Given the description of an element on the screen output the (x, y) to click on. 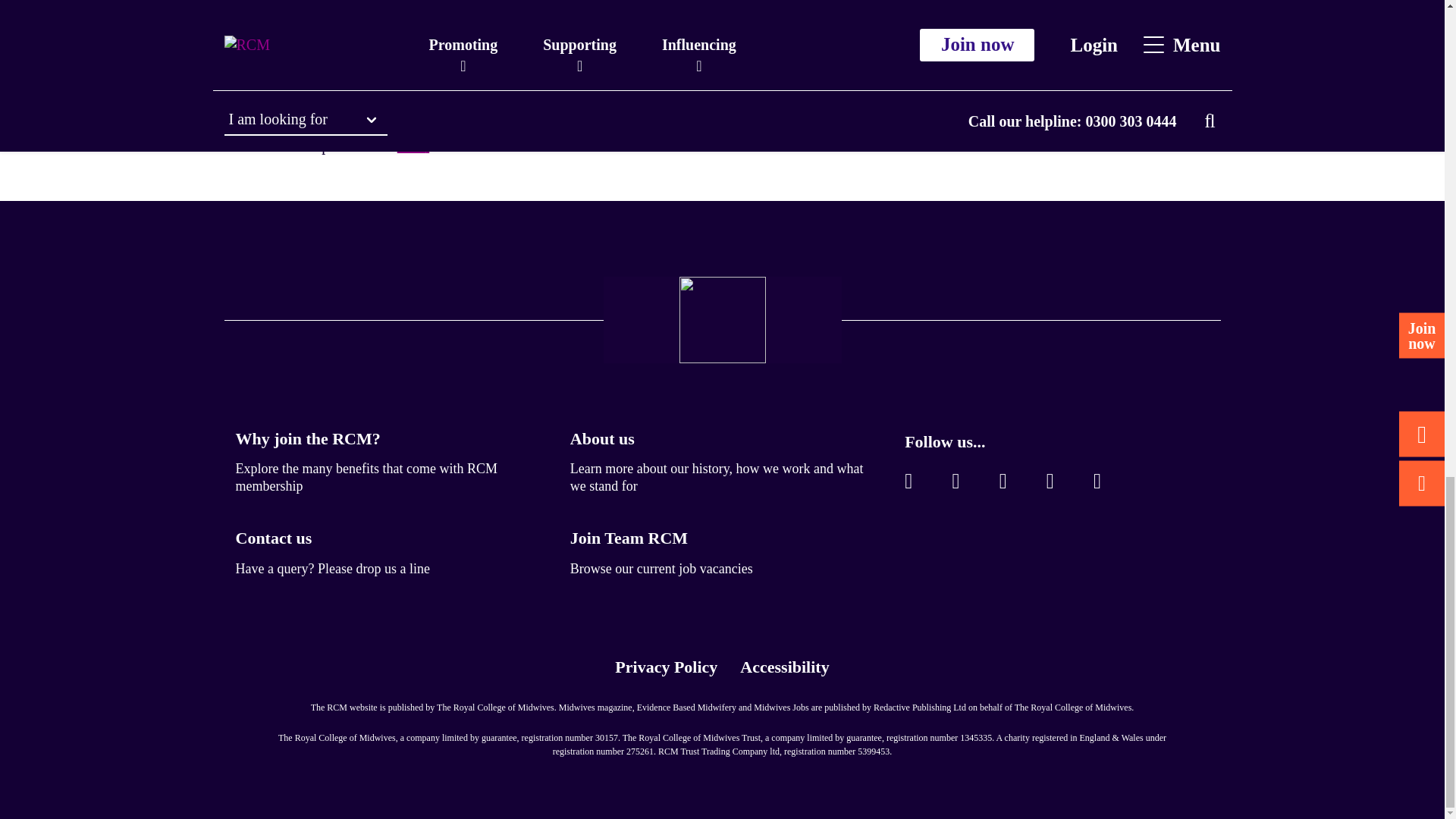
Contact us (272, 537)
About us (602, 438)
Why join the RCM? (307, 438)
Join Team RCM (628, 537)
